Given the description of an element on the screen output the (x, y) to click on. 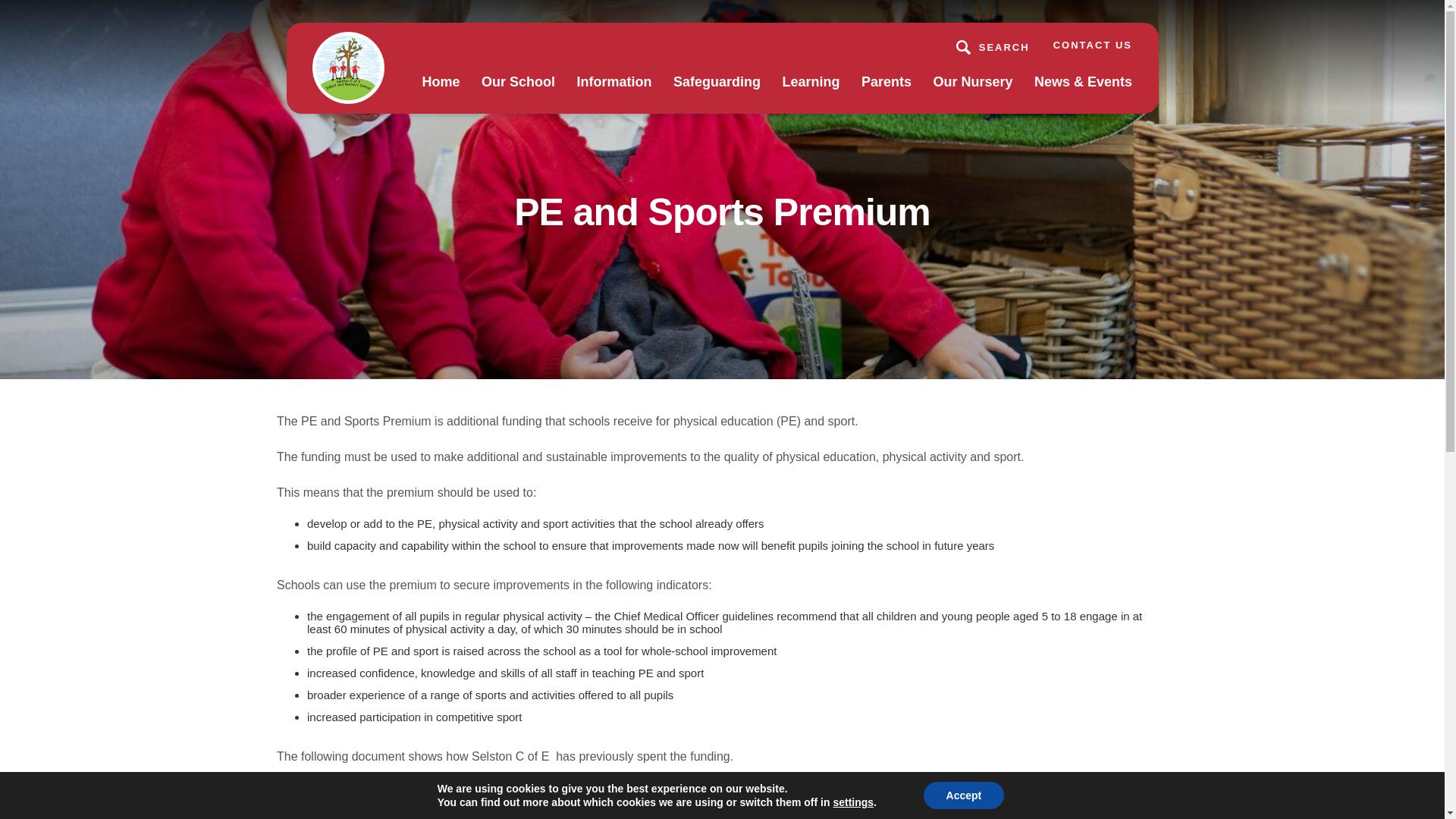
Information (614, 92)
Parents (886, 92)
Learning (810, 92)
Home (441, 92)
Safeguarding (716, 92)
Our School (517, 92)
CONTACT US (1092, 44)
